Given the description of an element on the screen output the (x, y) to click on. 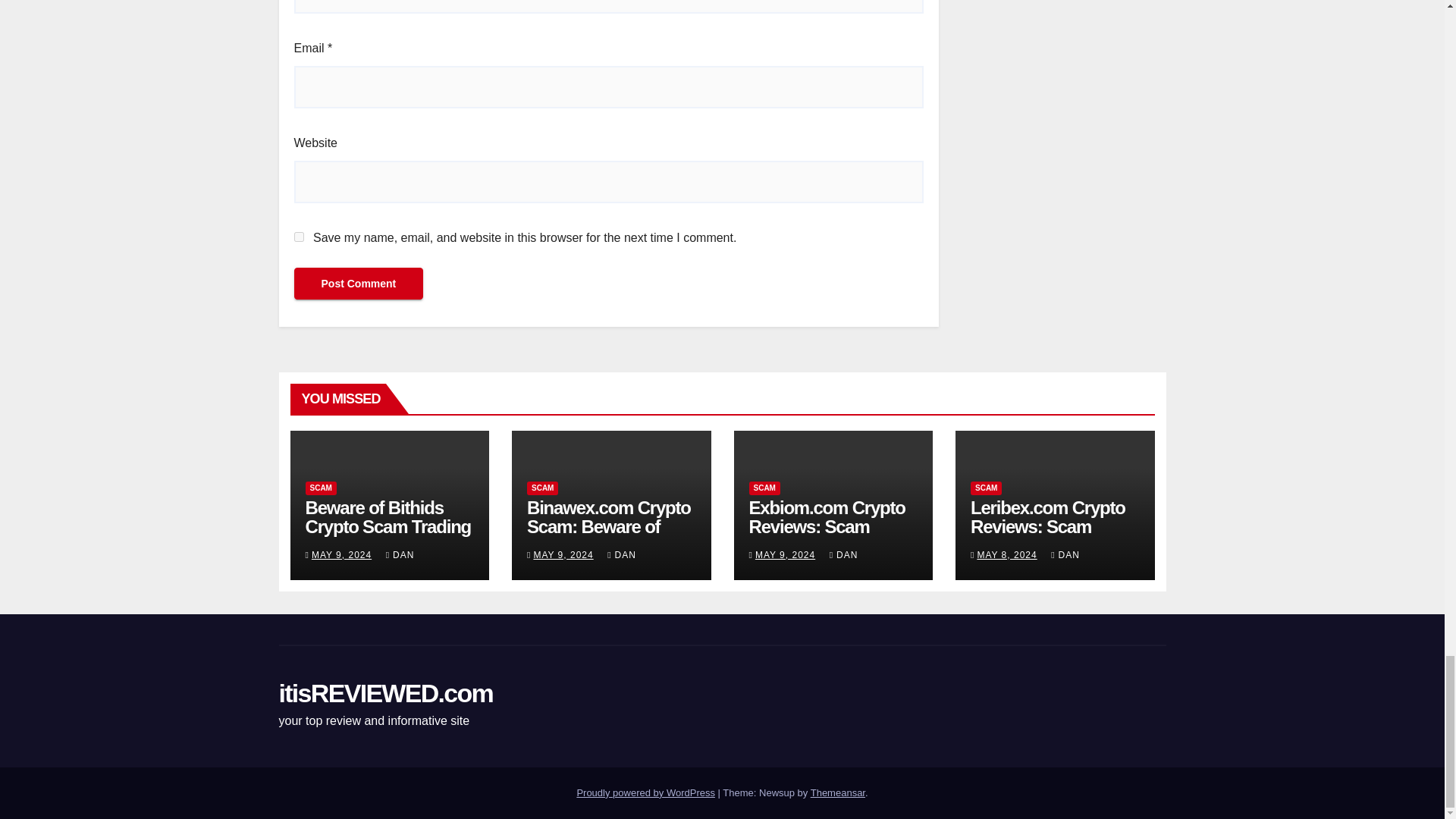
Post Comment (358, 283)
yes (299, 236)
